Given the description of an element on the screen output the (x, y) to click on. 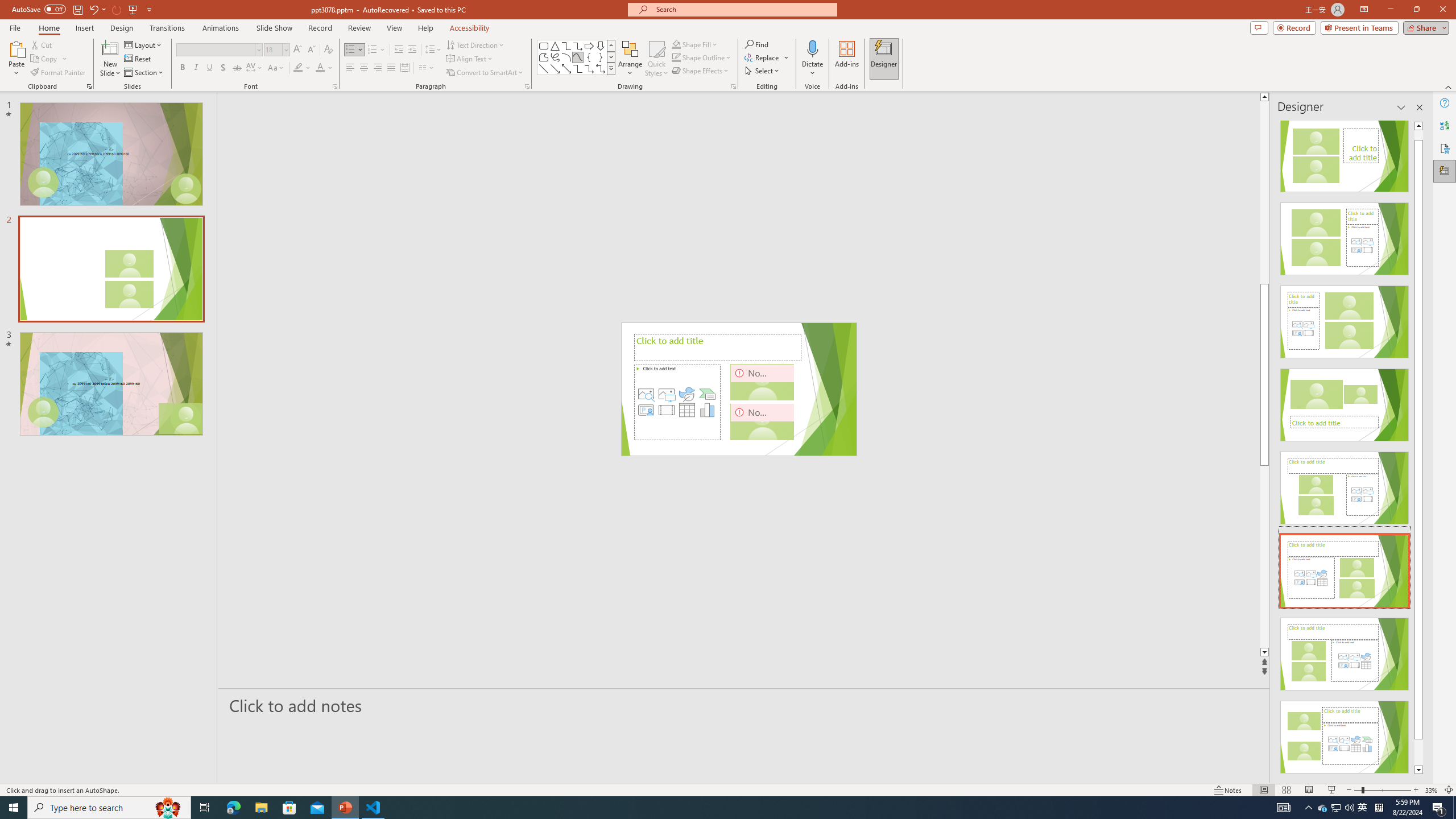
Insert Chart (707, 409)
